Given the description of an element on the screen output the (x, y) to click on. 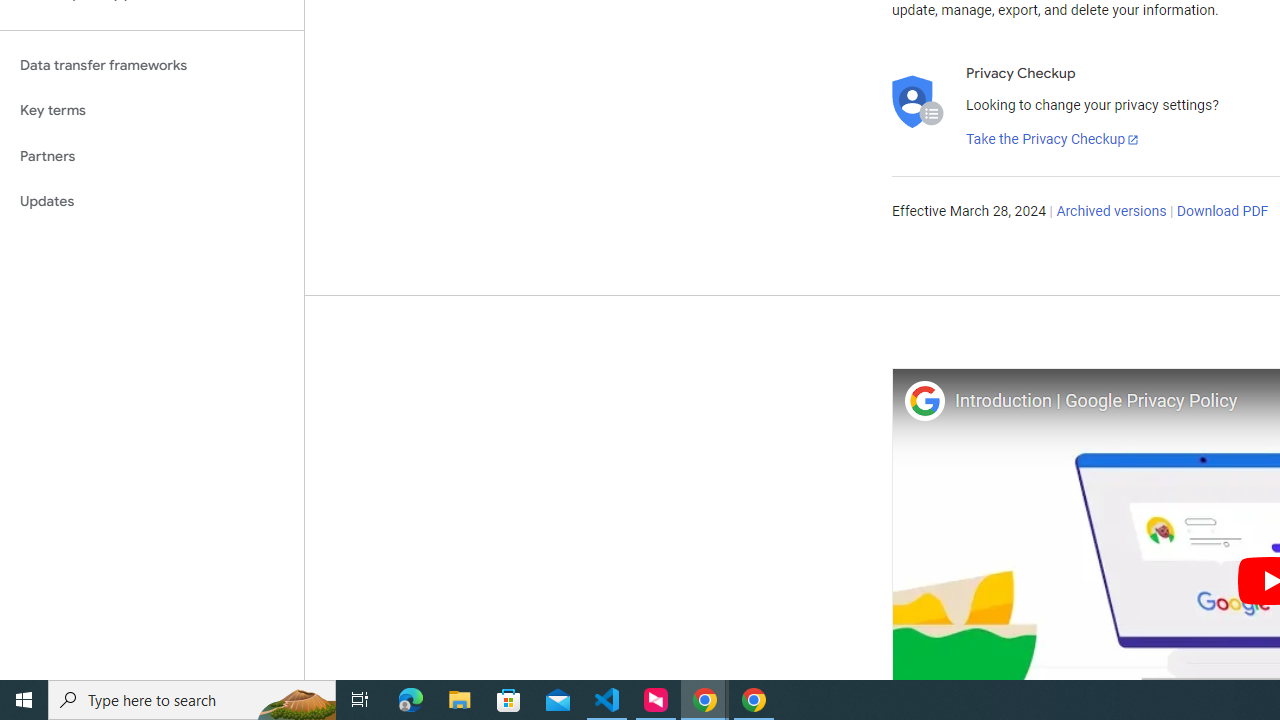
Take the Privacy Checkup (1053, 140)
Photo image of Google (924, 400)
Archived versions (1111, 212)
Download PDF (1222, 212)
